Given the description of an element on the screen output the (x, y) to click on. 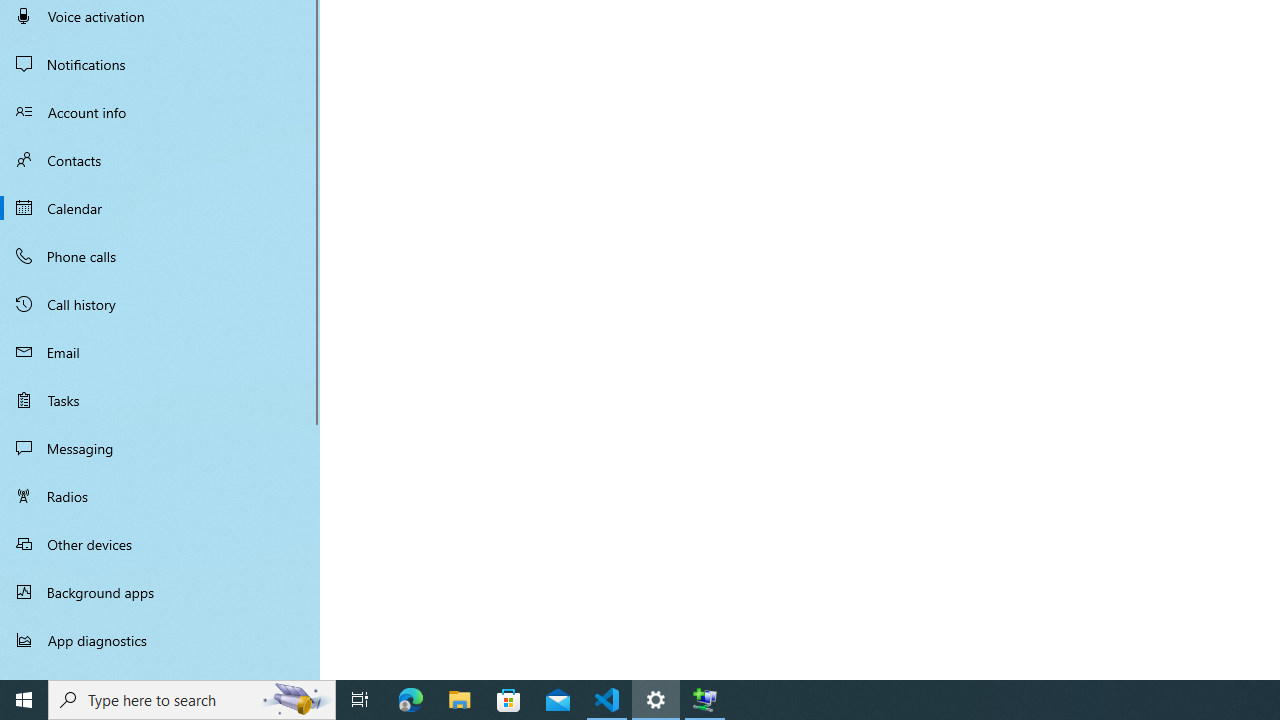
Settings - 1 running window (656, 699)
Radios (160, 495)
Phone calls (160, 255)
Call history (160, 304)
Tasks (160, 399)
